Given the description of an element on the screen output the (x, y) to click on. 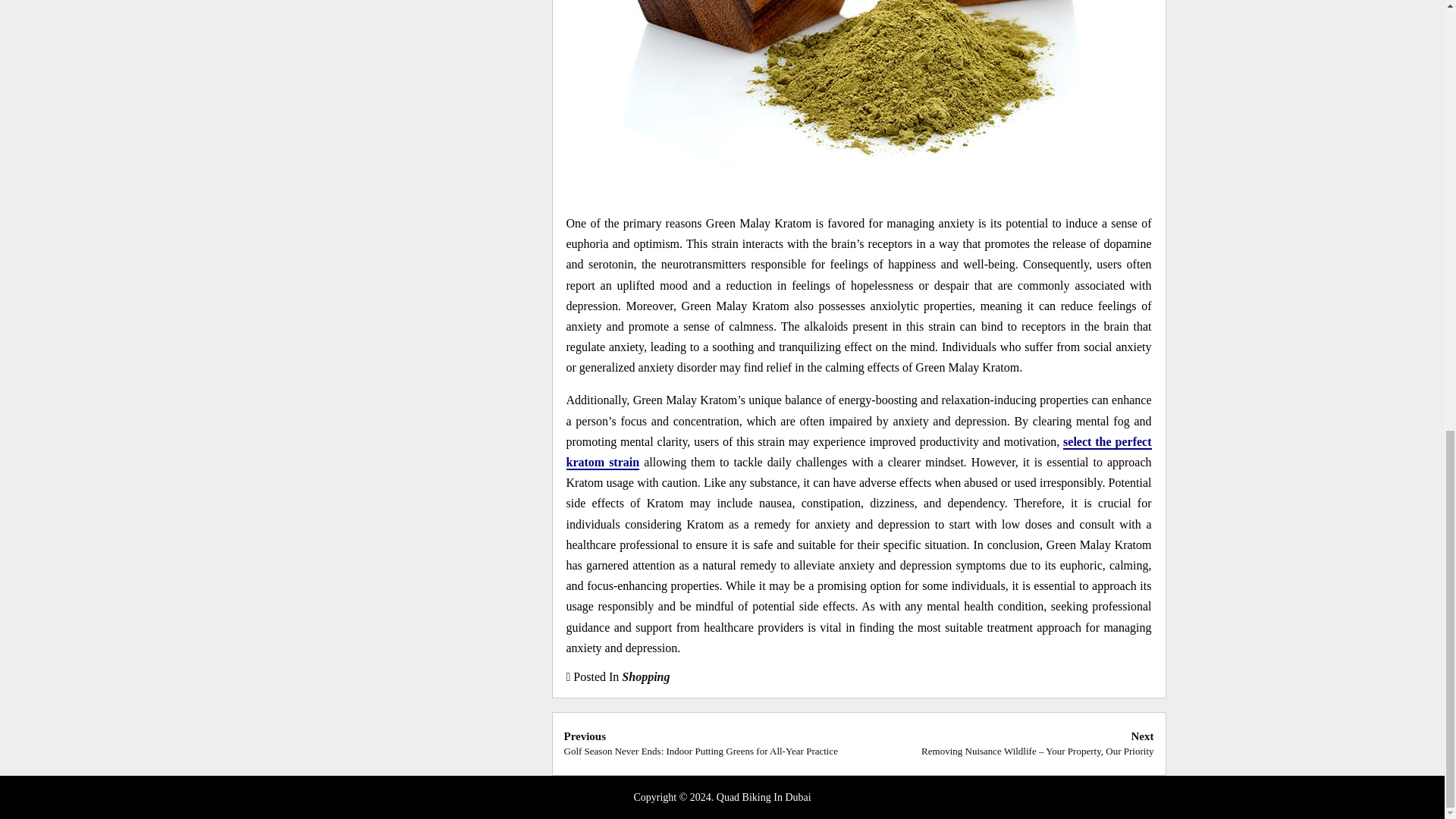
Shopping (645, 676)
Quad Biking In Dubai (763, 797)
select the perfect kratom strain (858, 452)
